Given the description of an element on the screen output the (x, y) to click on. 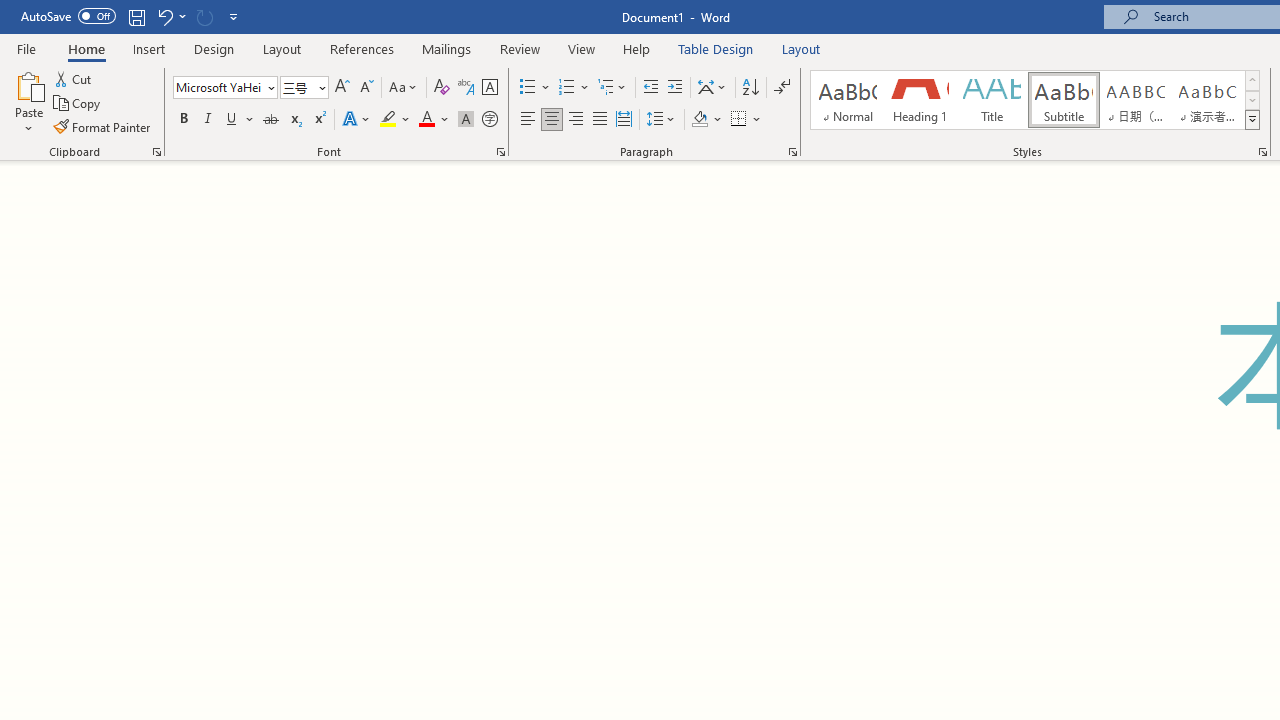
Bold (183, 119)
Mailings (447, 48)
Superscript (319, 119)
Line and Paragraph Spacing (661, 119)
Design (214, 48)
Underline (239, 119)
Paste (28, 84)
Customize Quick Access Toolbar (234, 15)
Open (320, 87)
Decrease Indent (650, 87)
Phonetic Guide... (465, 87)
Class: NetUIImage (1252, 119)
Help (637, 48)
Multilevel List (613, 87)
Can't Repeat (204, 15)
